Given the description of an element on the screen output the (x, y) to click on. 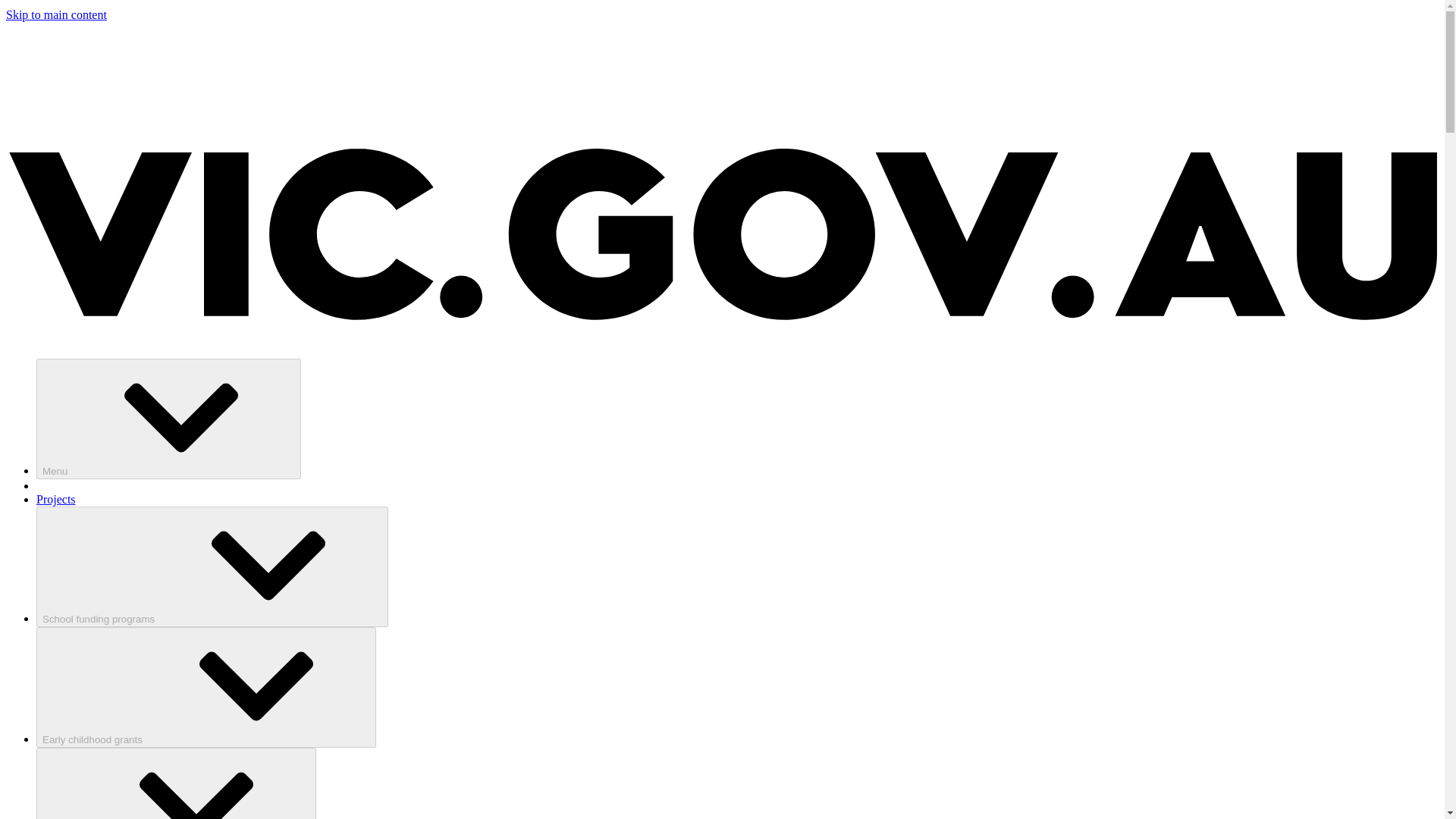
Skip to main content (55, 14)
